Given the description of an element on the screen output the (x, y) to click on. 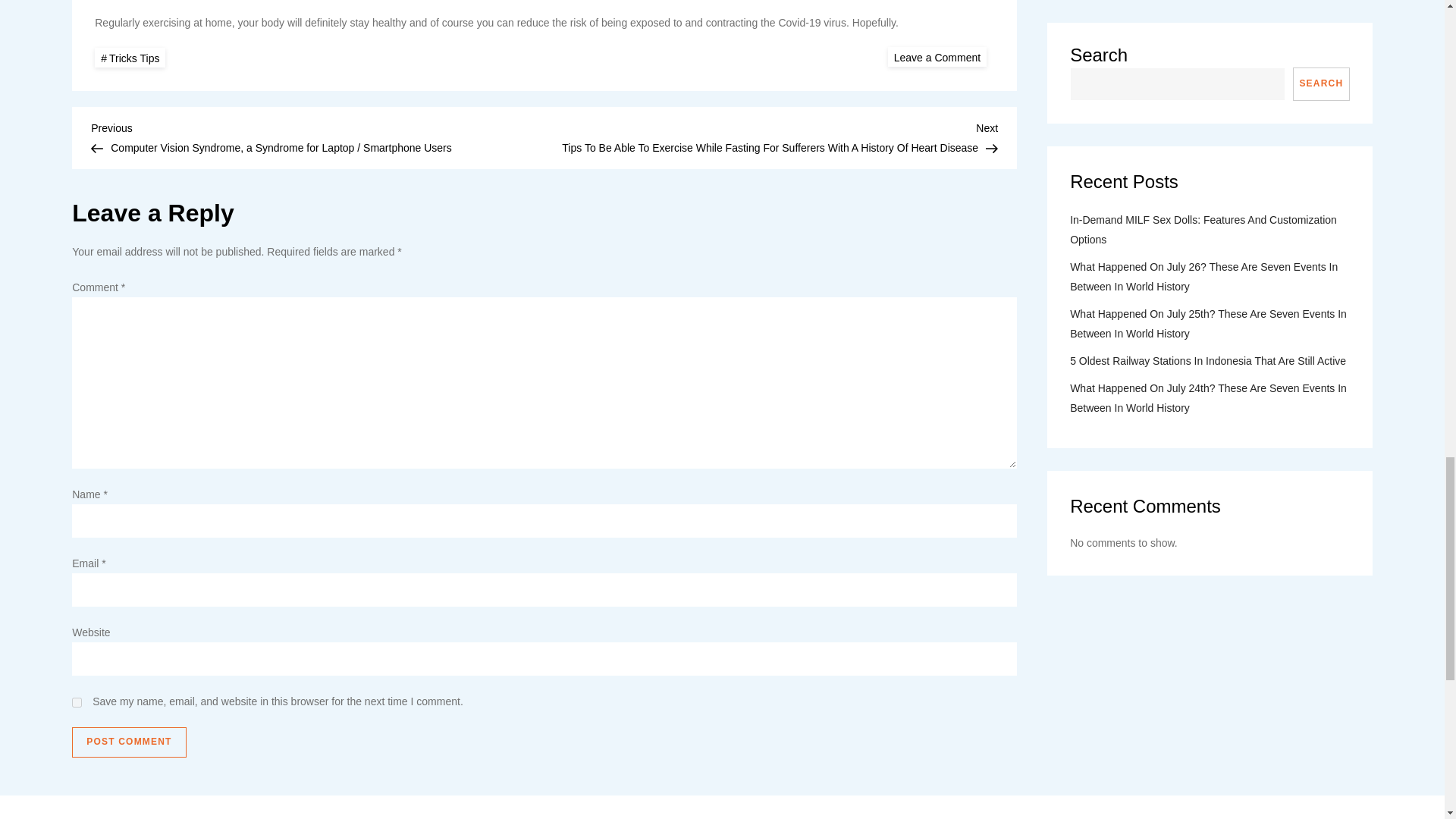
Tricks Tips (129, 57)
yes (76, 702)
Post Comment (128, 742)
Post Comment (128, 742)
